Given the description of an element on the screen output the (x, y) to click on. 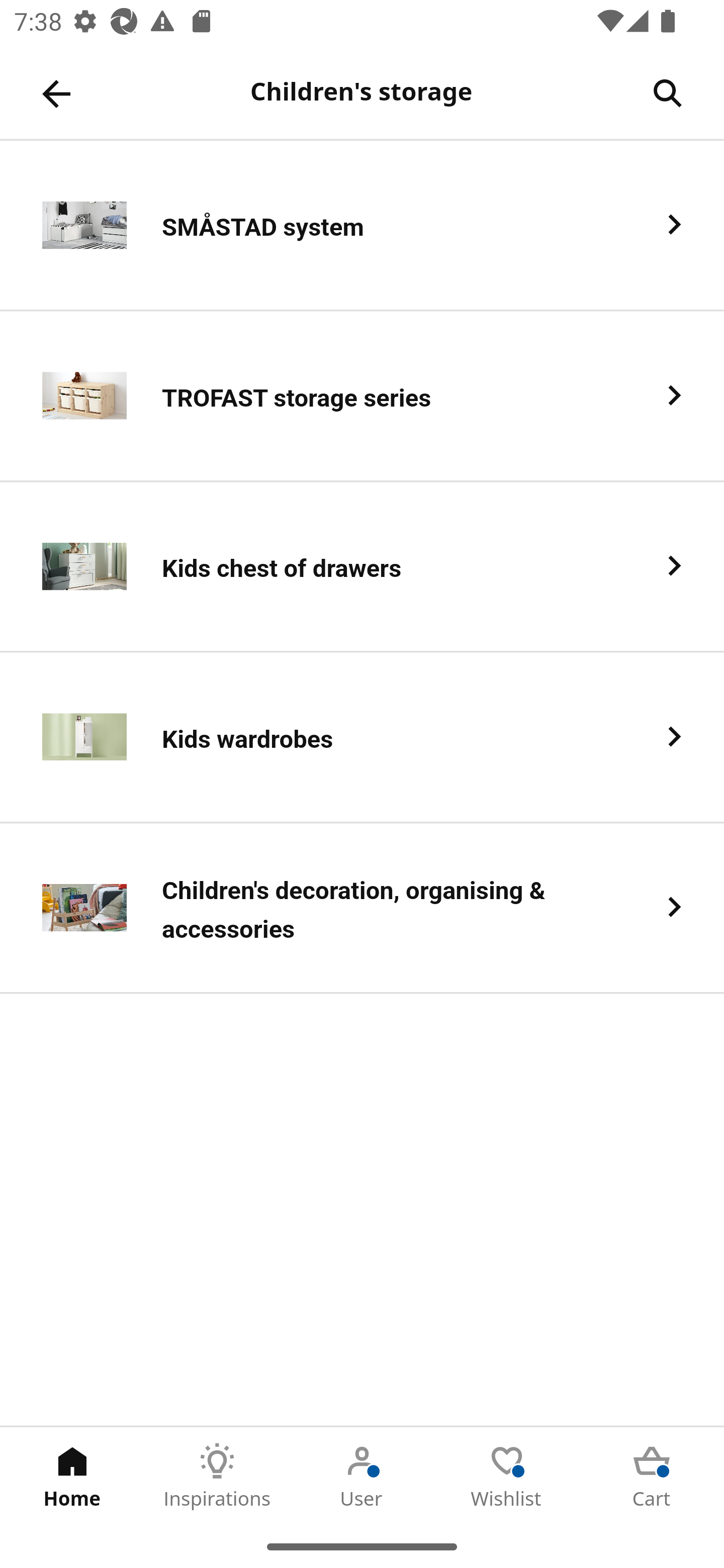
SMÅSTAD system (362, 226)
TROFAST storage series (362, 396)
Kids chest of drawers (362, 566)
Kids wardrobes (362, 737)
Children's decoration, organising & accessories (362, 908)
Home
Tab 1 of 5 (72, 1476)
Inspirations
Tab 2 of 5 (216, 1476)
User
Tab 3 of 5 (361, 1476)
Wishlist
Tab 4 of 5 (506, 1476)
Cart
Tab 5 of 5 (651, 1476)
